Given the description of an element on the screen output the (x, y) to click on. 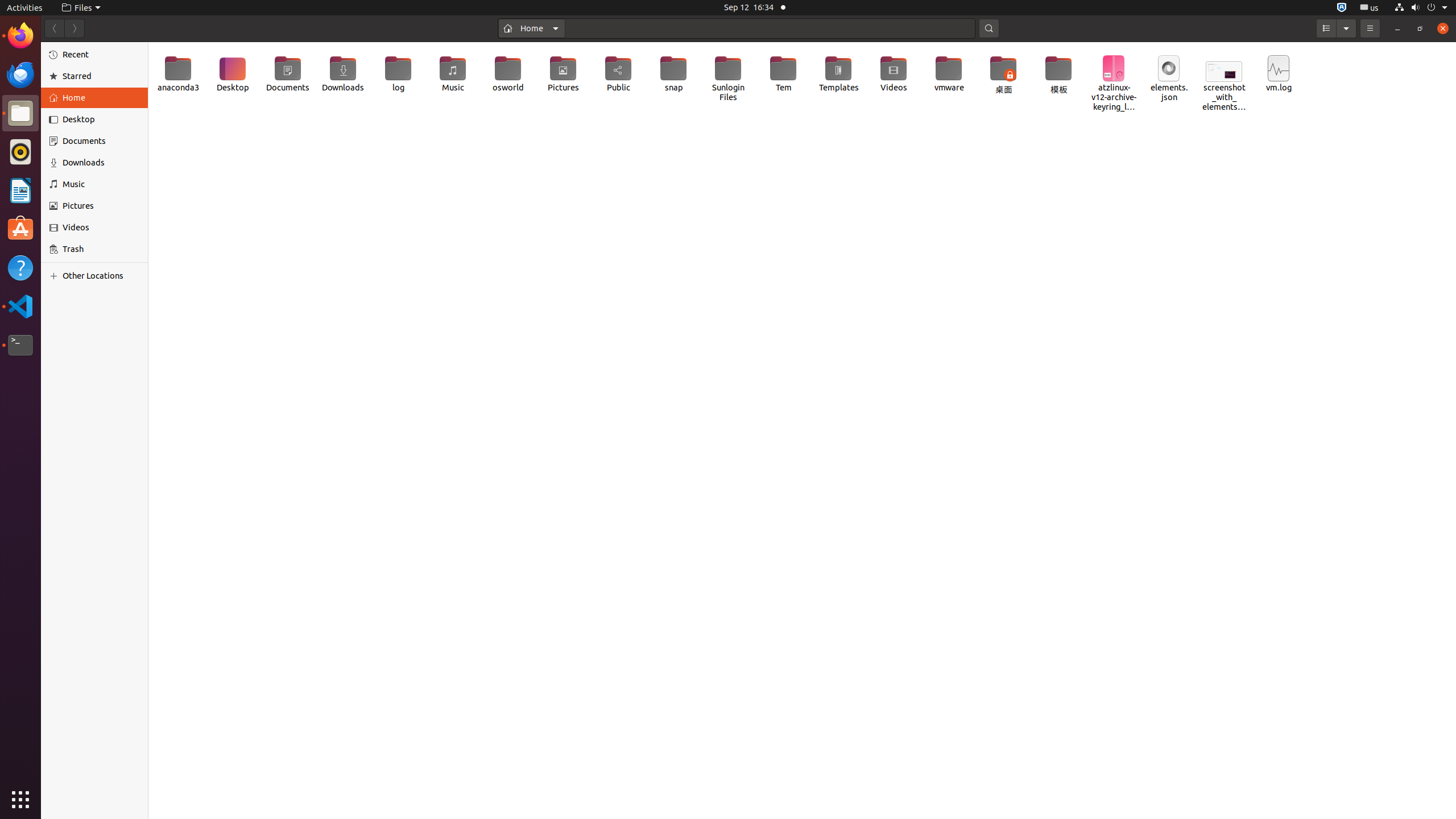
Downloads Element type: label (100, 162)
Sunlogin Files Element type: canvas (727, 78)
Videos Element type: label (100, 227)
